Given the description of an element on the screen output the (x, y) to click on. 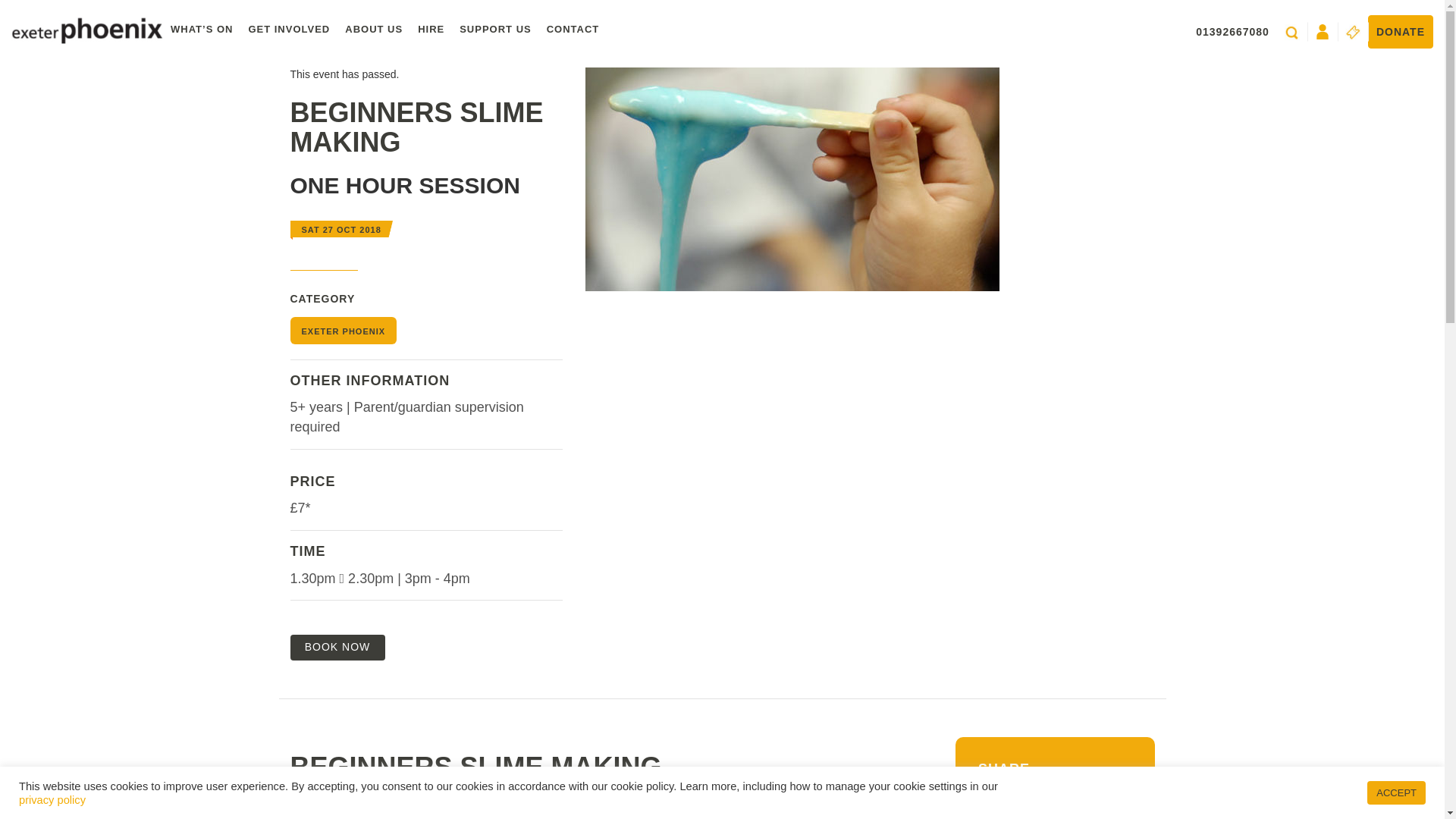
GET INVOLVED (288, 30)
HIRE (430, 30)
SUPPORT US (494, 30)
ABOUT US (373, 30)
CONTACT (572, 30)
